Given the description of an element on the screen output the (x, y) to click on. 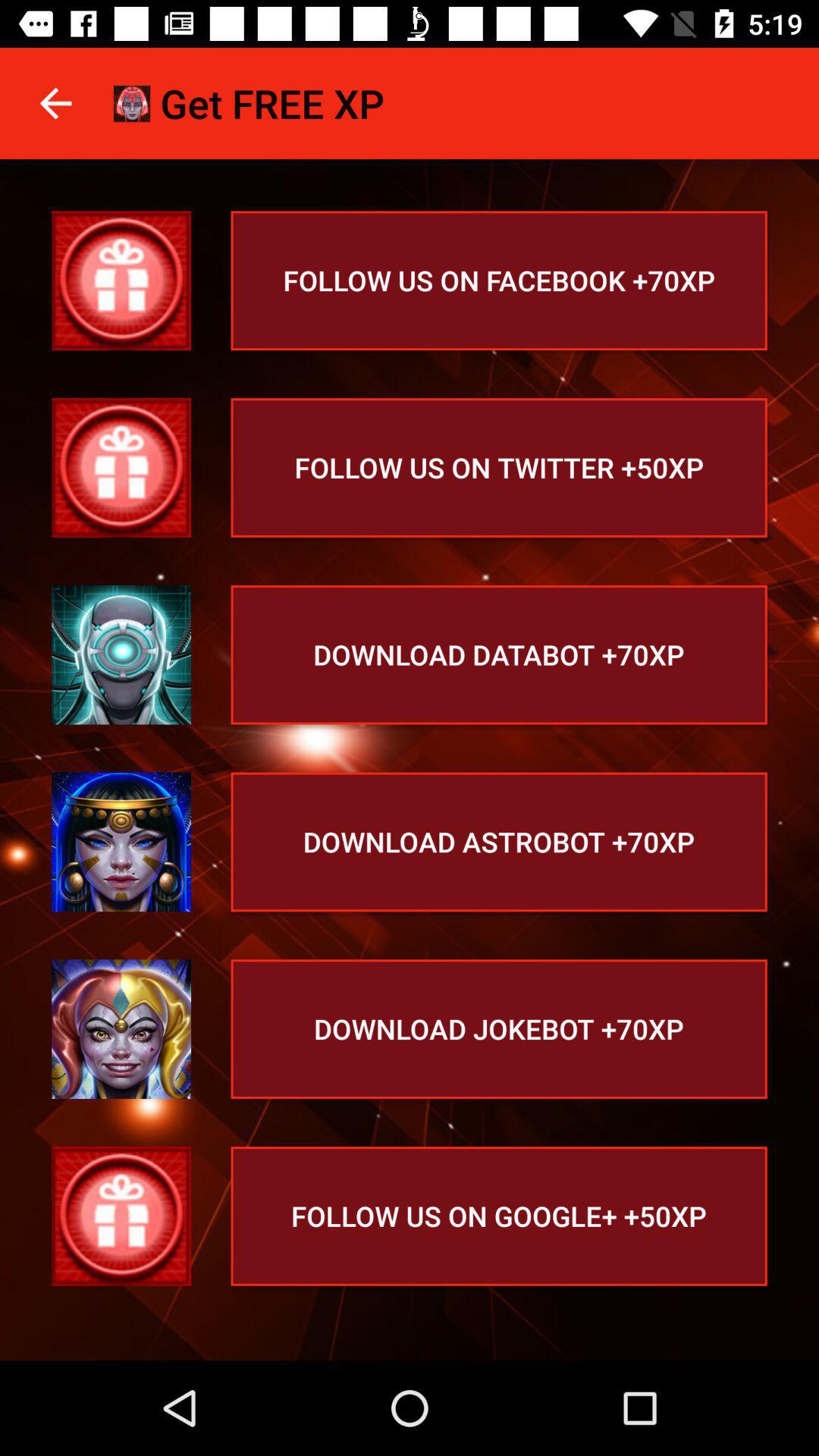
click to profile (121, 280)
